Given the description of an element on the screen output the (x, y) to click on. 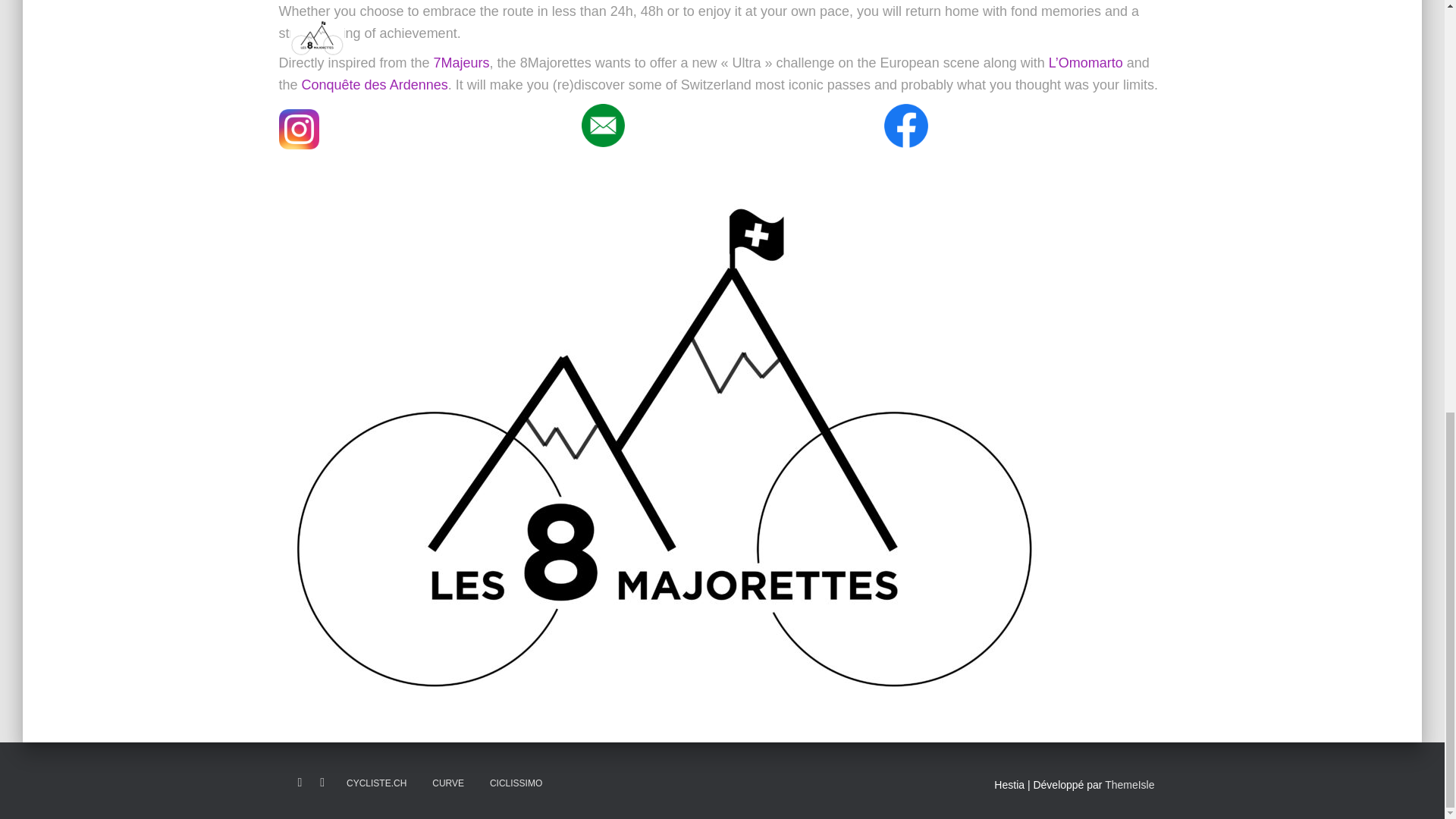
CYCLISTE.CH (375, 783)
CURVE (448, 783)
7Majeurs (461, 62)
CICLISSIMO (516, 783)
ThemeIsle (1129, 784)
